Given the description of an element on the screen output the (x, y) to click on. 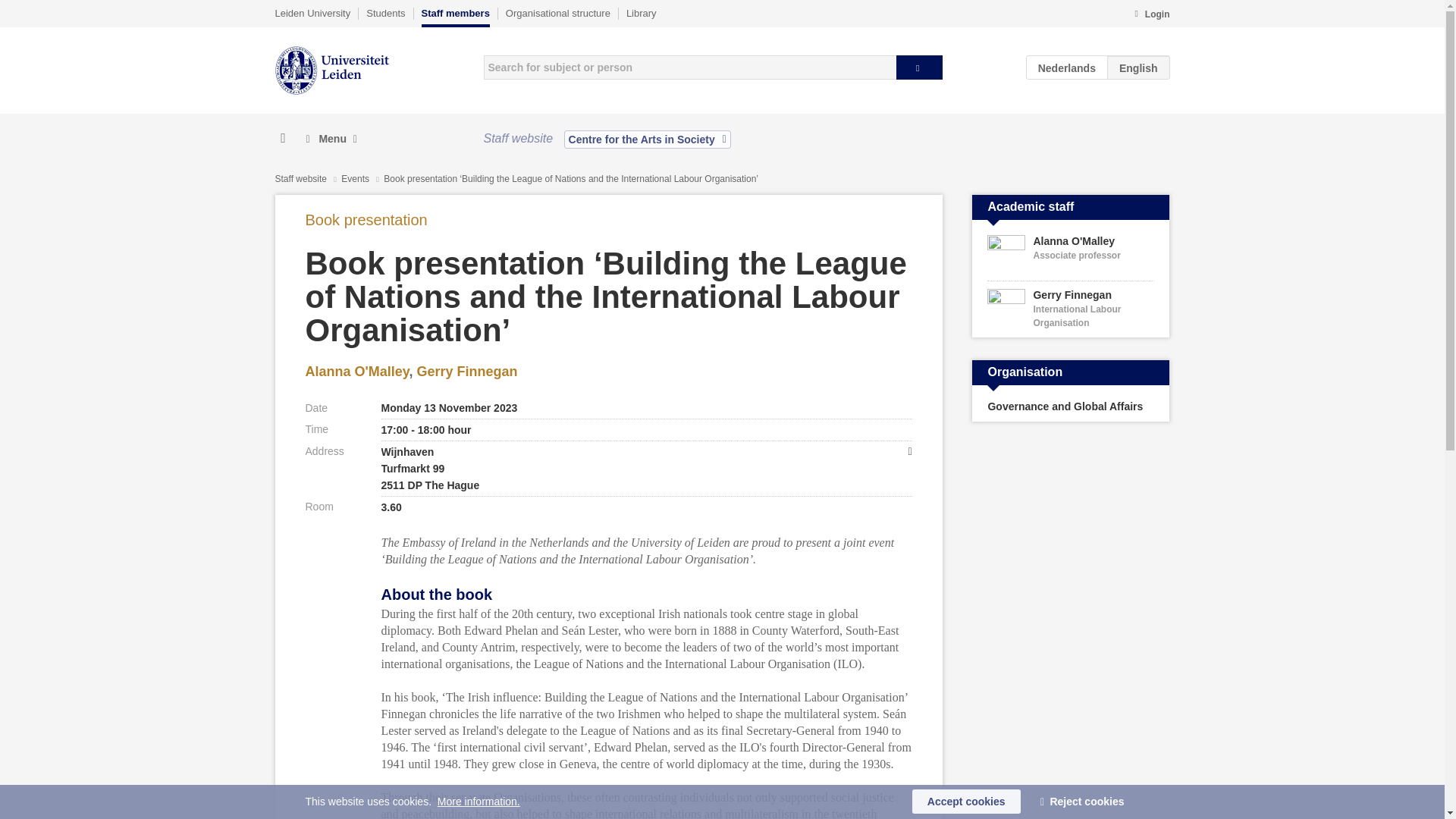
Events (355, 178)
Staff members (1070, 309)
NL (455, 17)
Leiden University (1067, 67)
Login (312, 13)
Staff website (1151, 14)
Alanna O'Malley (300, 178)
Students (356, 371)
Centre for the Arts in Society (385, 13)
Search (647, 139)
Gerry Finnegan (1070, 253)
Organisational structure (919, 67)
Menu (467, 371)
